Given the description of an element on the screen output the (x, y) to click on. 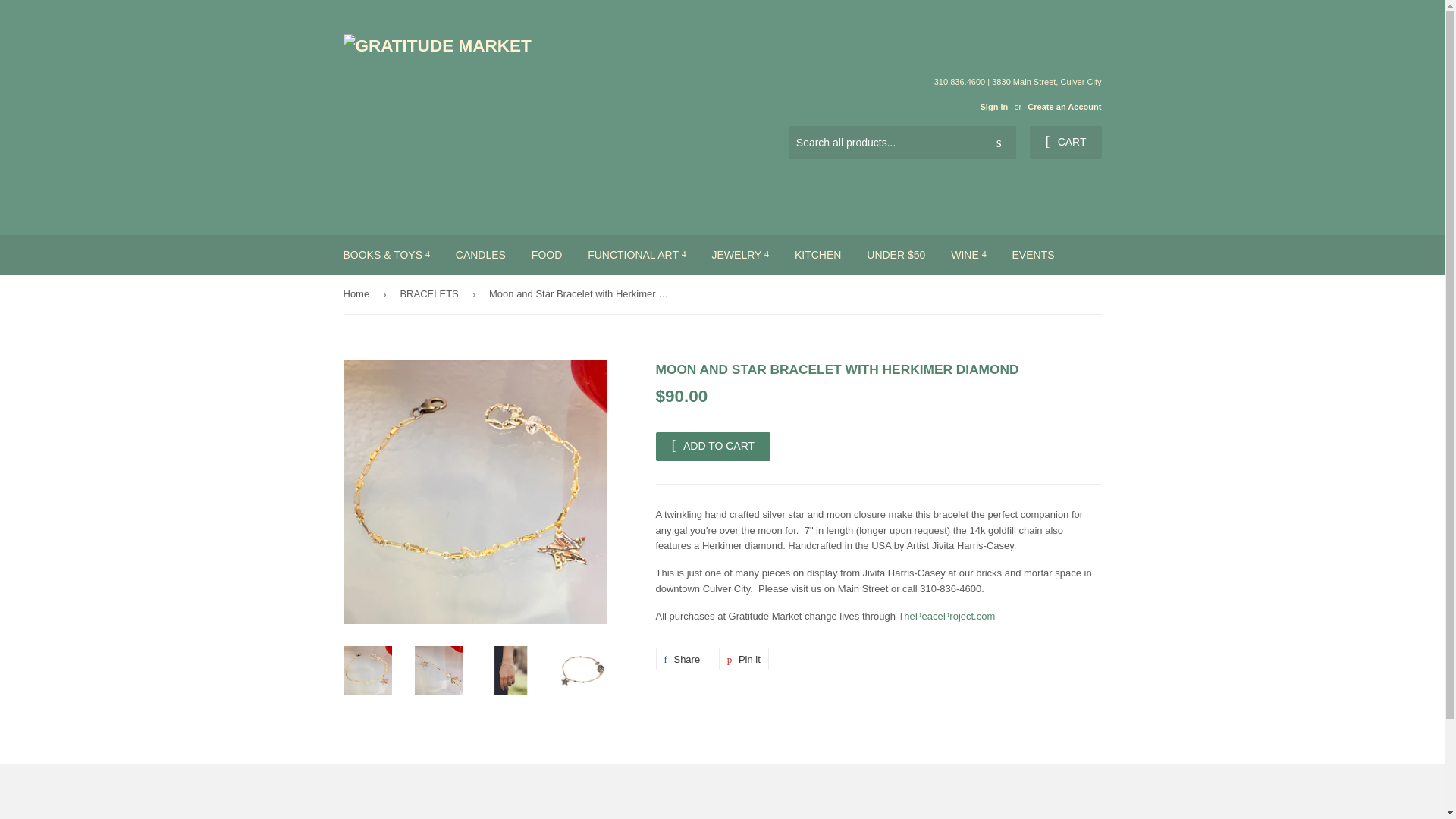
Sign in (993, 106)
Share on Facebook (681, 658)
Create an Account (1063, 106)
CART (1064, 142)
Search (998, 142)
Pin on Pinterest (743, 658)
